Given the description of an element on the screen output the (x, y) to click on. 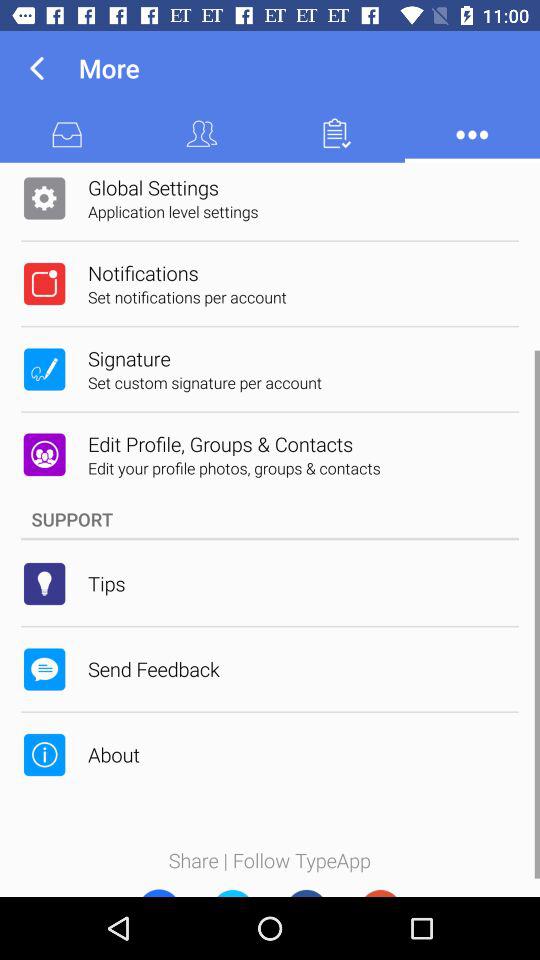
press app below the send feedback icon (113, 754)
